Given the description of an element on the screen output the (x, y) to click on. 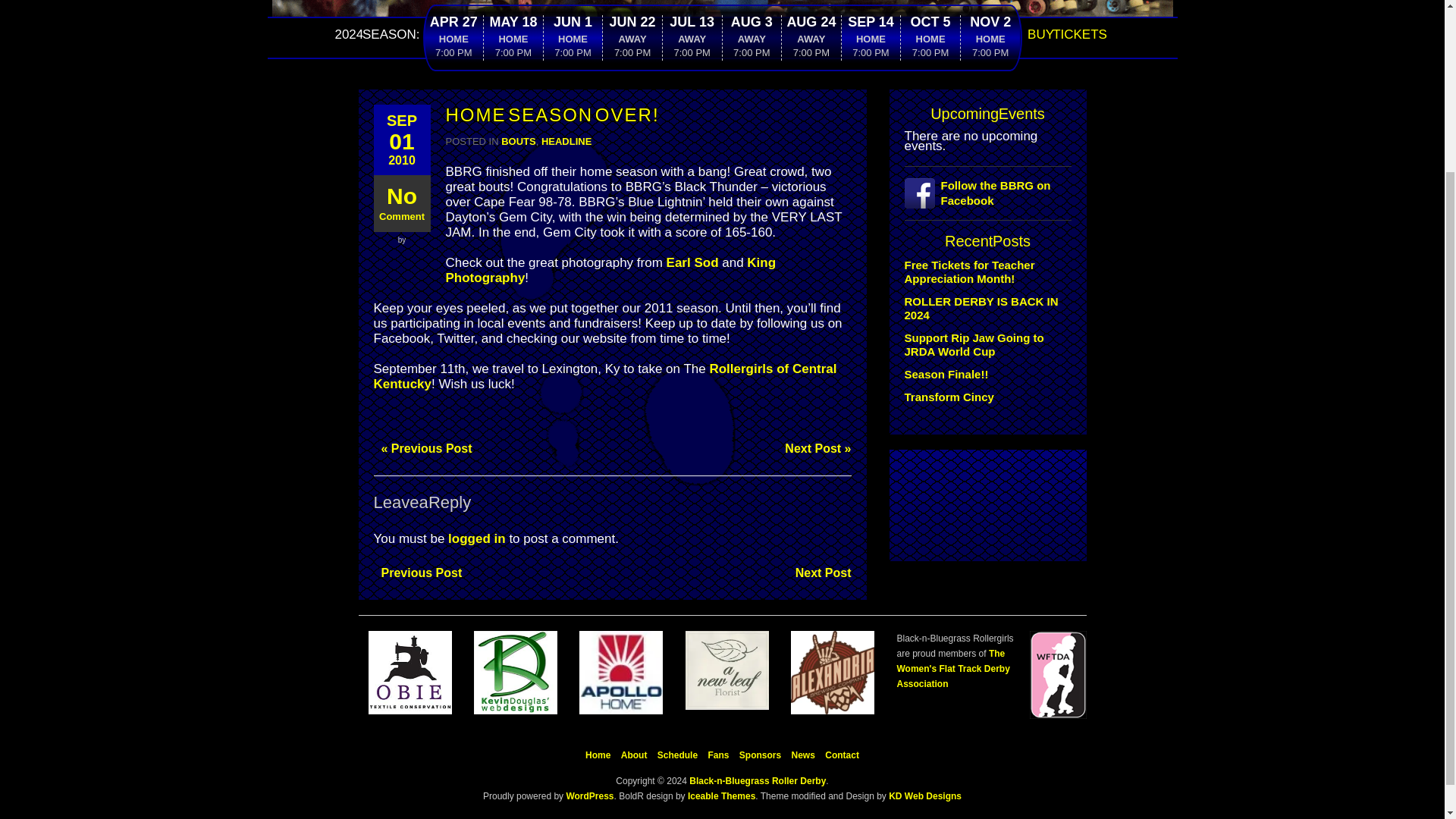
Follow the BBRG on Facebook (984, 193)
HOME SEASON OVER! (552, 114)
HEADLINE (566, 141)
Black-n-Bluegrass Rollergirls (721, 13)
Home Season Over! (400, 139)
Upcoming Events (987, 113)
Season Finale!! (946, 373)
King Photography (610, 270)
Semantic Personal Publishing Platform (587, 796)
logged in (476, 538)
Earl Sod (692, 262)
Next Post (819, 572)
Rollergirls of Central Kentucky (603, 376)
Recent Posts (987, 240)
Home Season Over! (552, 114)
